Given the description of an element on the screen output the (x, y) to click on. 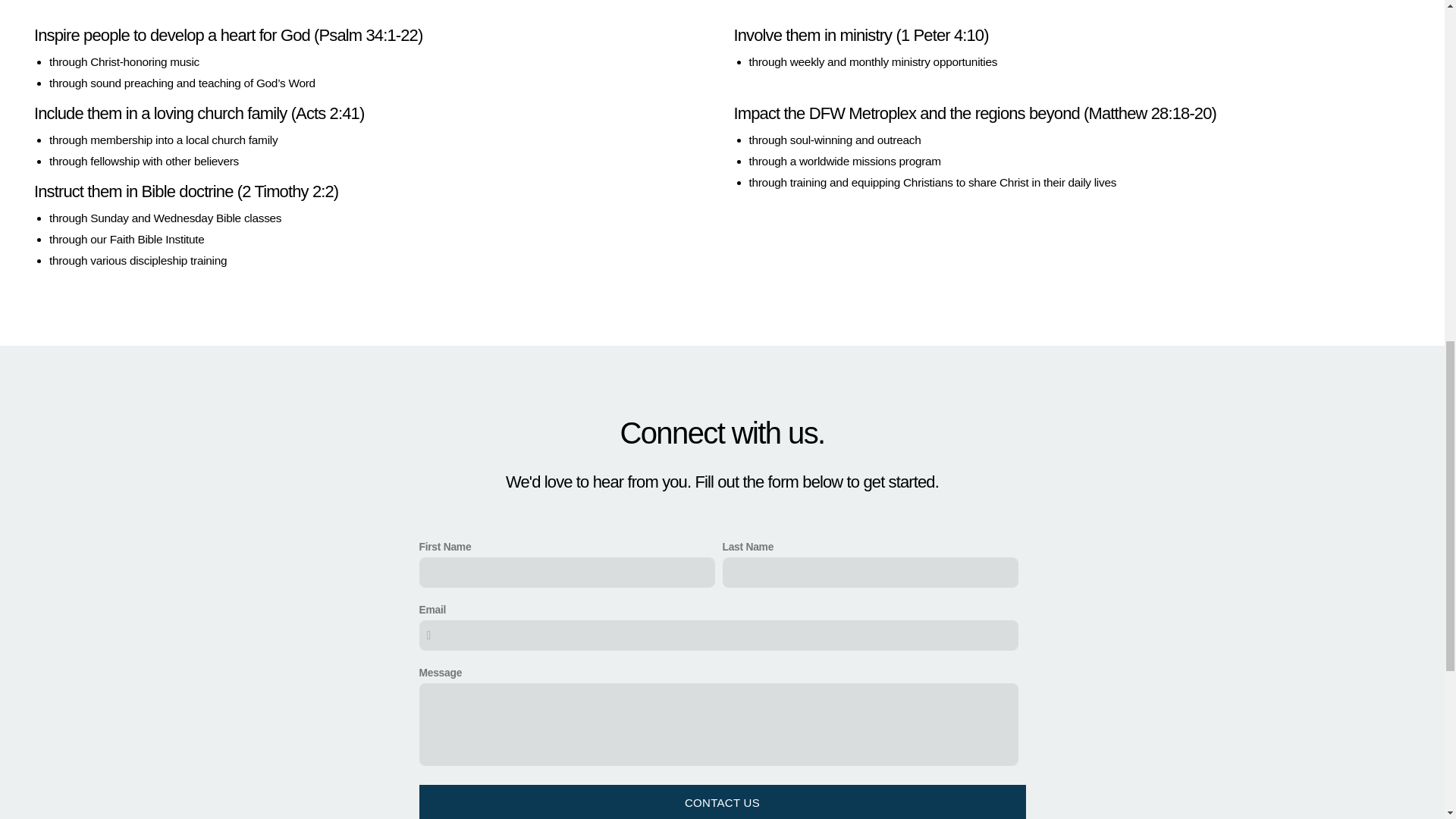
CONTACT US (722, 801)
